Given the description of an element on the screen output the (x, y) to click on. 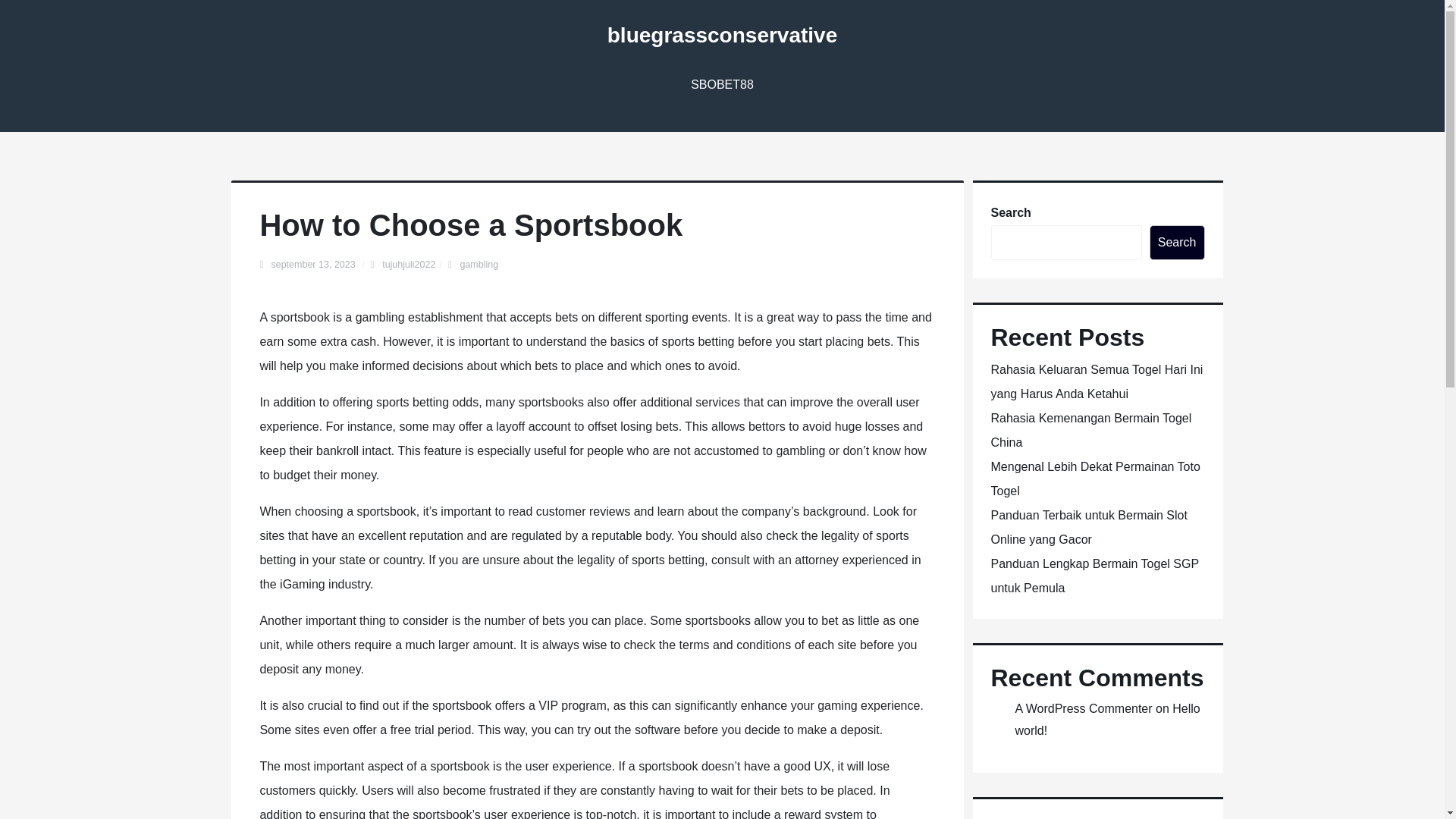
A WordPress Commenter (1082, 707)
gambling (478, 264)
bluegrassconservative (722, 34)
Panduan Terbaik untuk Bermain Slot Online yang Gacor (1088, 527)
SBOBET88 (722, 84)
Mengenal Lebih Dekat Permainan Toto Togel (1094, 478)
tujuhjuli2022 (408, 264)
Hello world! (1106, 719)
Panduan Lengkap Bermain Togel SGP untuk Pemula (1094, 575)
SBOBET88 (722, 84)
september 13, 2023 (314, 264)
Rahasia Kemenangan Bermain Togel China (1090, 429)
Search (1177, 242)
